Given the description of an element on the screen output the (x, y) to click on. 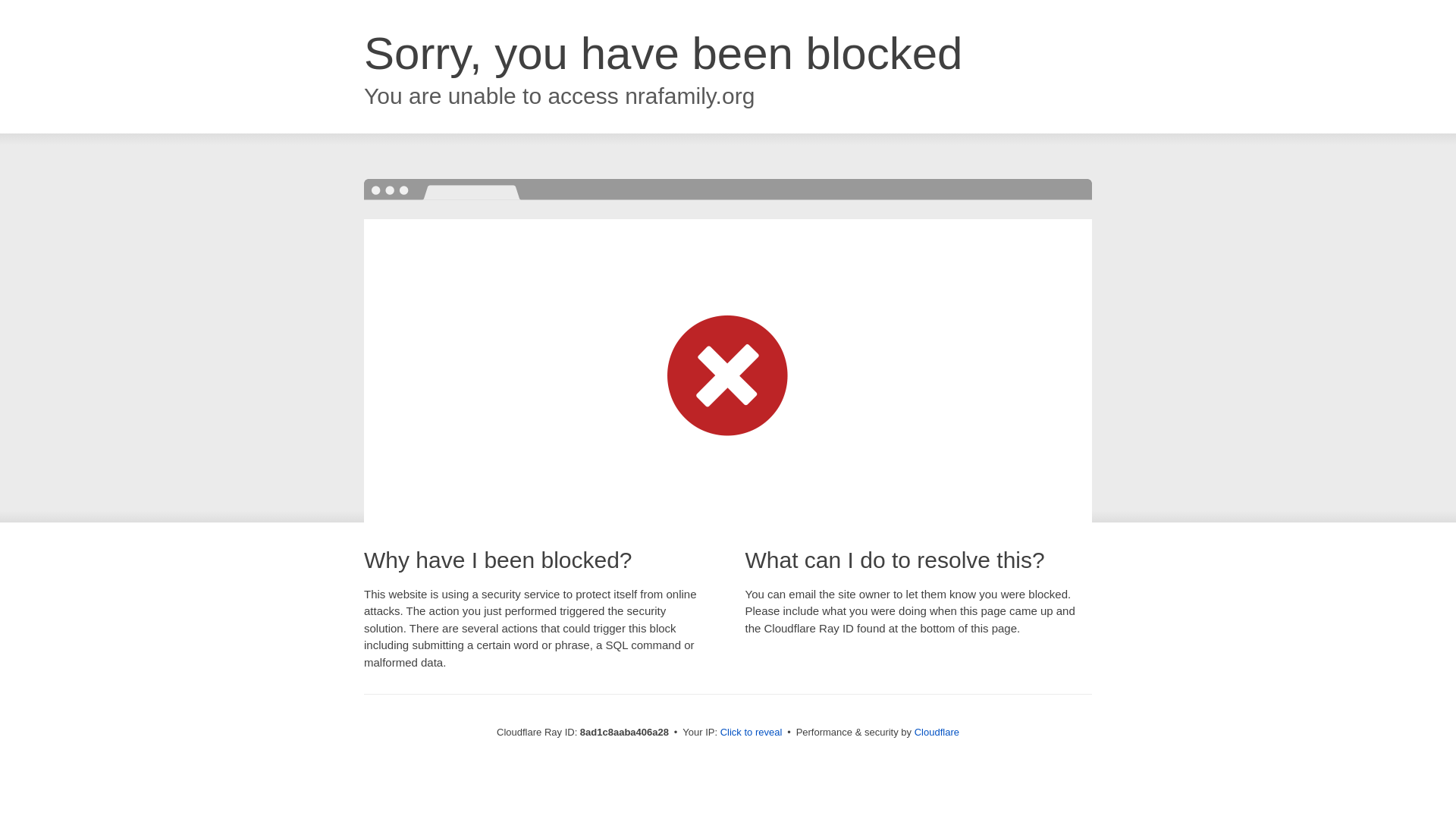
Cloudflare (936, 731)
Click to reveal (751, 732)
